Given the description of an element on the screen output the (x, y) to click on. 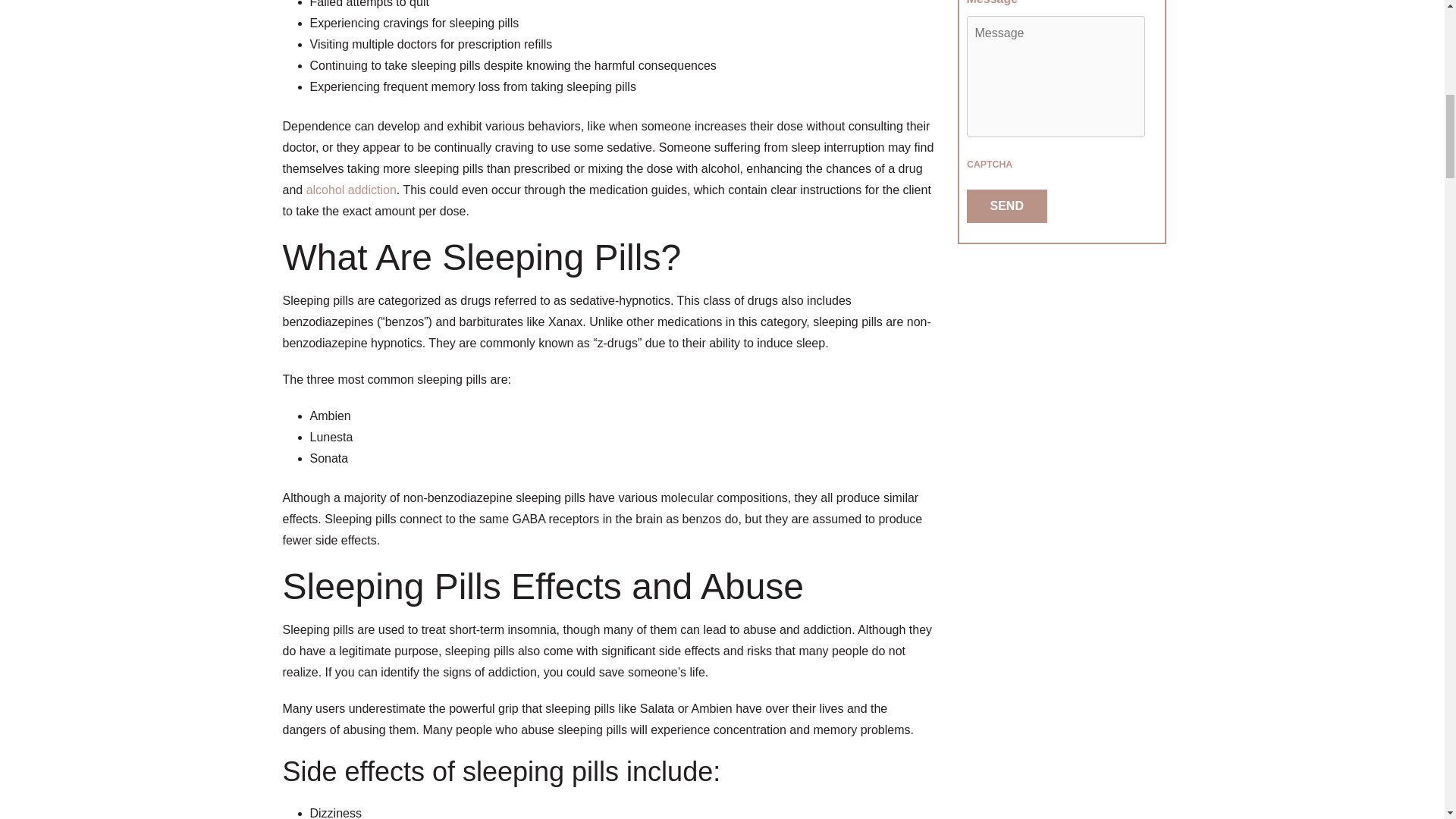
Send (1006, 205)
